Given the description of an element on the screen output the (x, y) to click on. 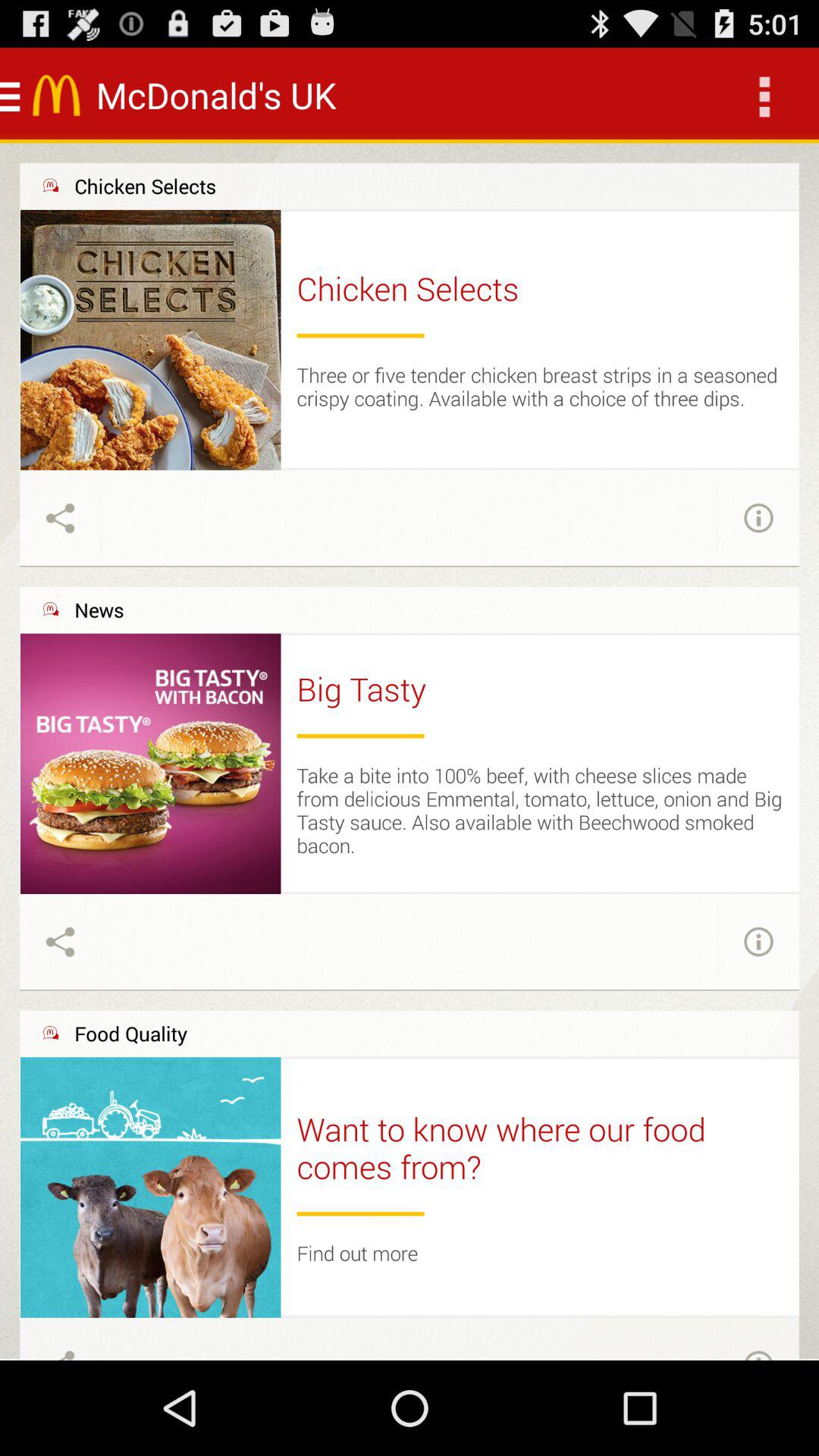
select the find out more (357, 1252)
